Given the description of an element on the screen output the (x, y) to click on. 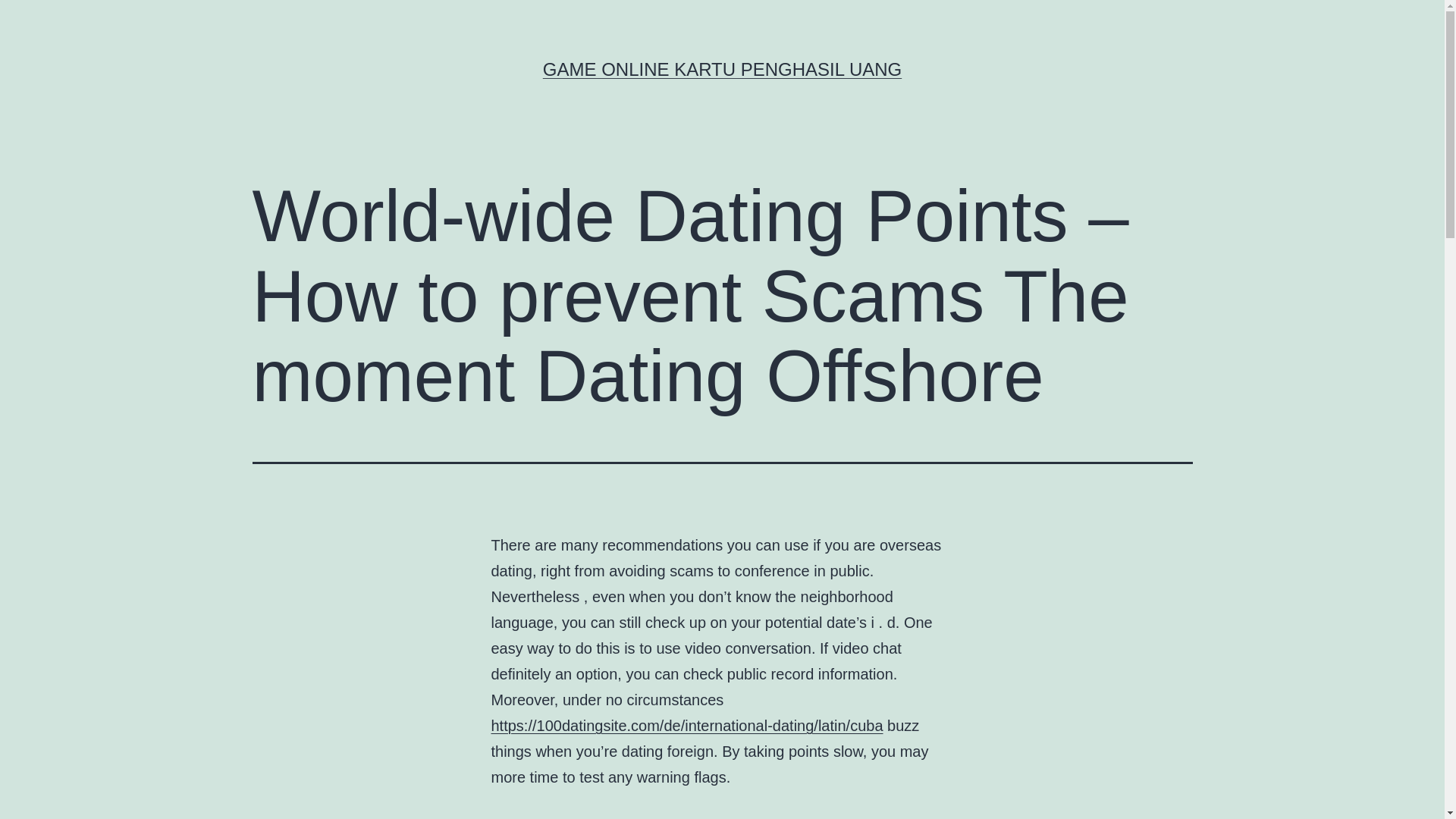
GAME ONLINE KARTU PENGHASIL UANG (722, 68)
